Given the description of an element on the screen output the (x, y) to click on. 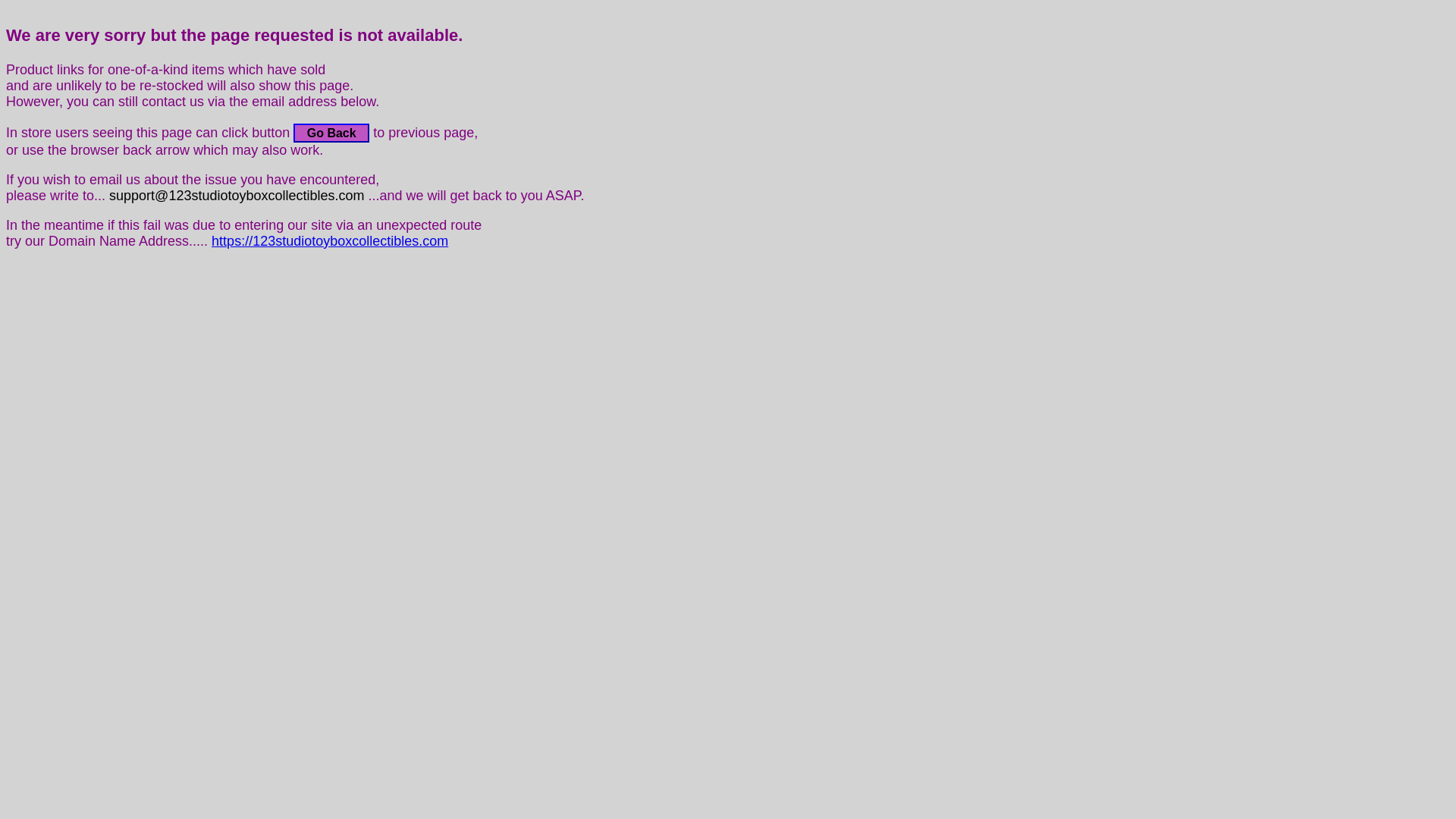
https://123studiotoyboxcollectibles.com Element type: text (329, 240)
Go Back Element type: text (331, 132)
